Given the description of an element on the screen output the (x, y) to click on. 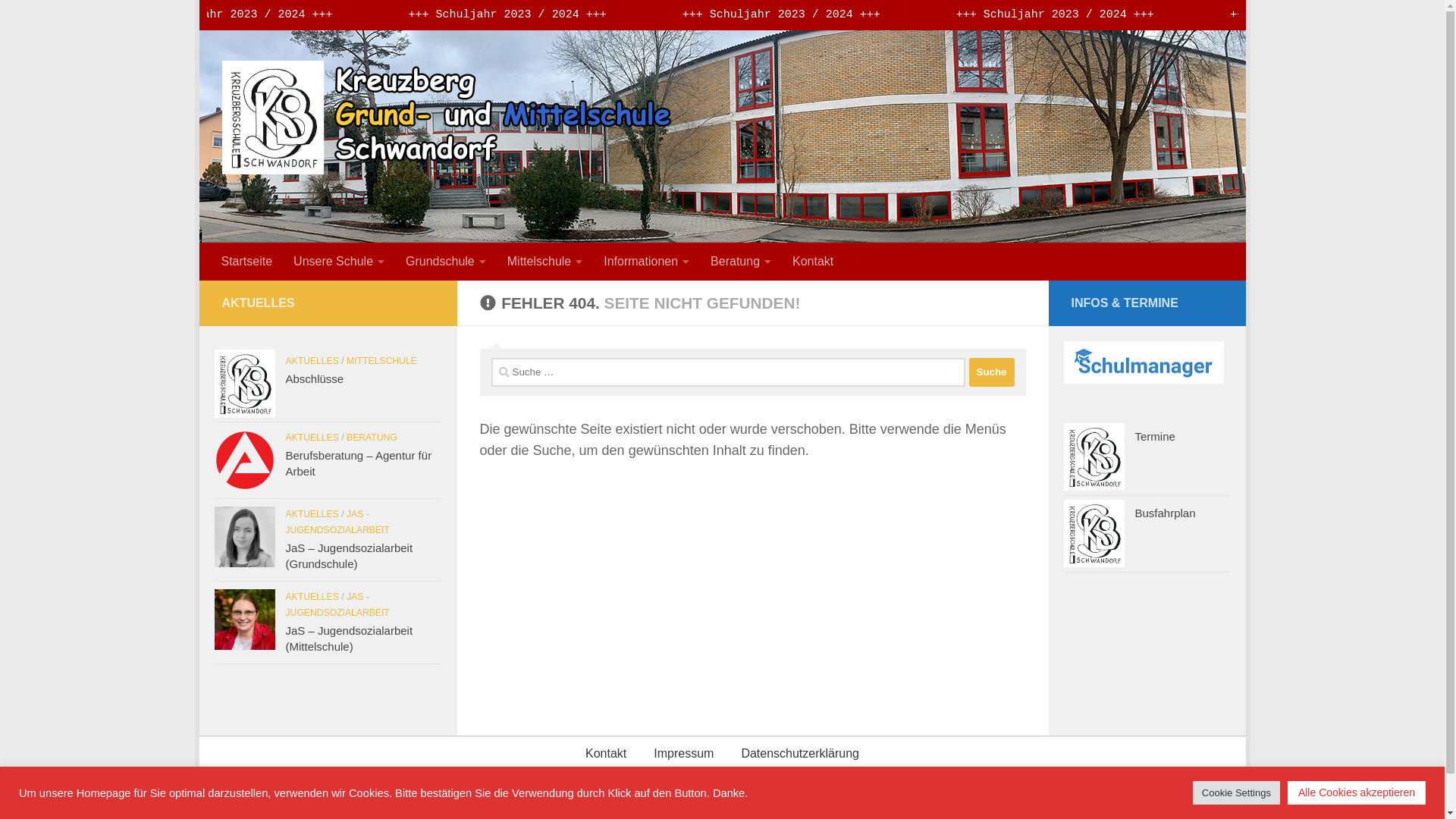
Busfahrplan Element type: text (1164, 511)
AKTUELLES Element type: text (311, 437)
Informationen Element type: text (646, 261)
JAS - JUGENDSOZIALARBEIT Element type: text (337, 521)
Beratung Element type: text (740, 261)
Cookie Settings Element type: text (1236, 792)
Impressum Element type: text (683, 753)
Zum Inhalt springen Element type: text (276, 20)
BERATUNG Element type: text (371, 437)
JAS - JUGENDSOZIALARBEIT Element type: text (337, 604)
AKTUELLES Element type: text (311, 513)
Suche Element type: text (991, 371)
AKTUELLES Element type: text (311, 360)
Unsere Schule Element type: text (338, 261)
Kontakt Element type: text (812, 261)
Alle Cookies akzeptieren Element type: text (1356, 792)
Termine Element type: text (1154, 435)
MITTELSCHULE Element type: text (381, 360)
Kontakt Element type: text (605, 753)
Startseite Element type: text (246, 261)
AKTUELLES Element type: text (311, 596)
Grundschule Element type: text (445, 261)
Mittelschule Element type: text (544, 261)
Kreuzberg Grund- und Mittelschule Schwandorf | Startseite Element type: hover (458, 117)
